Given the description of an element on the screen output the (x, y) to click on. 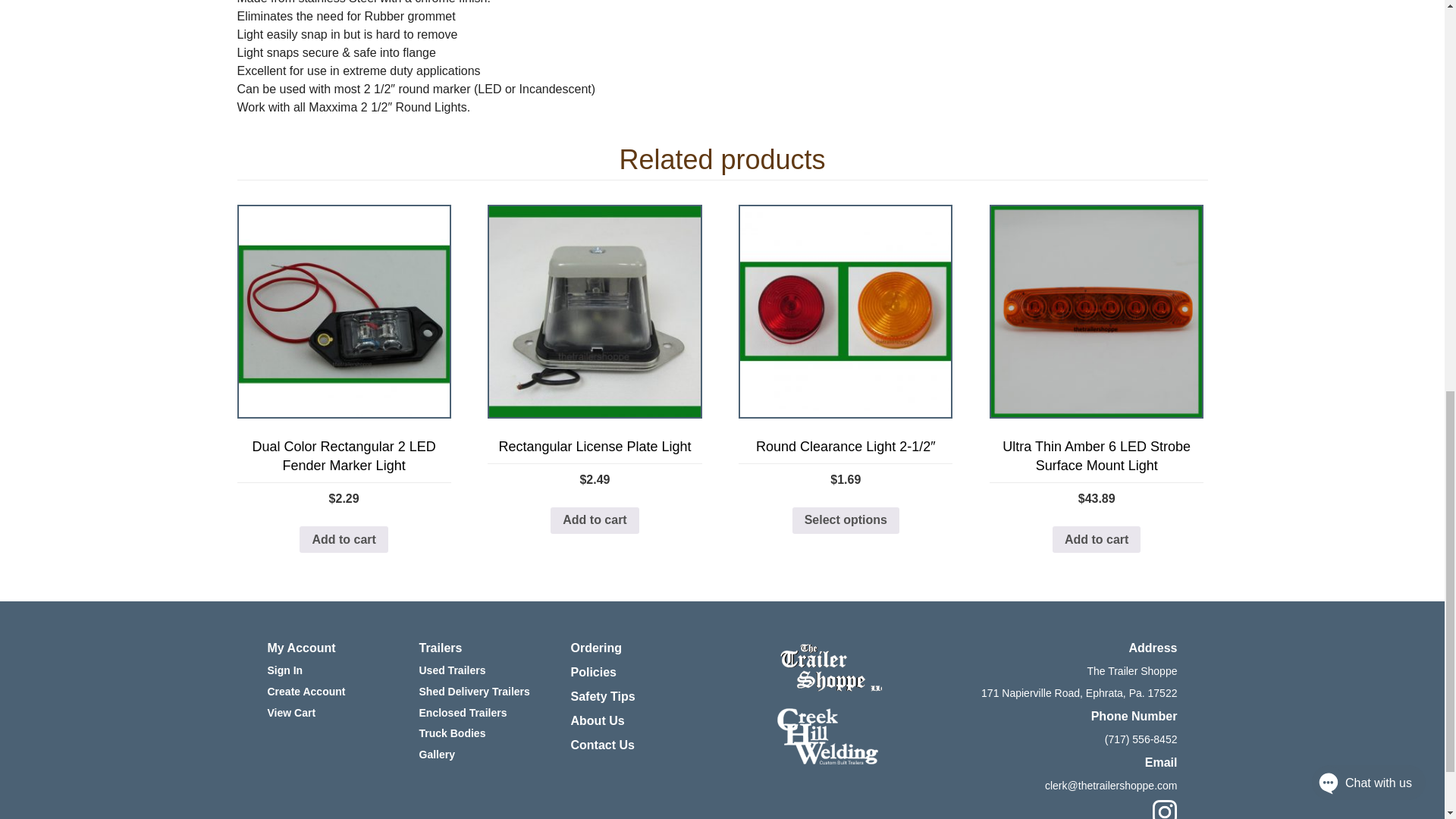
Ultra Thin Amber 6 LED Strobe Surface Mount Light (1097, 311)
Rectangular License Plate Light (594, 311)
Dual Color Rectangular 2 LED Fender Marker Light (342, 311)
